Given the description of an element on the screen output the (x, y) to click on. 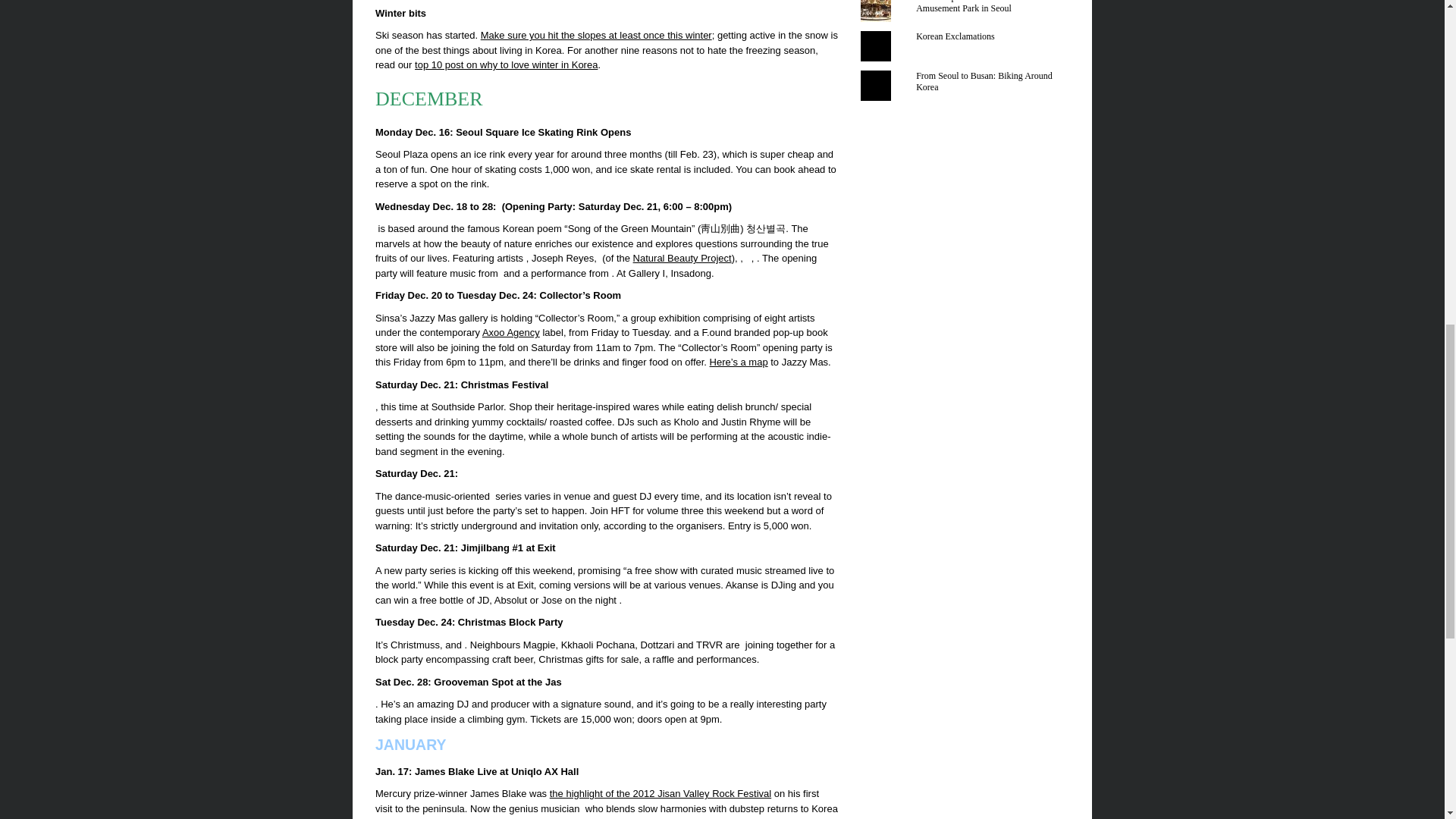
The Natural Beauty Project (682, 257)
top 10 post on why to love winter in Korea (505, 64)
Make sure you hit the slopes at least once this winter (595, 34)
Natural Beauty Project (682, 257)
10 Reasons to Love Winter in Korea (505, 64)
